Given the description of an element on the screen output the (x, y) to click on. 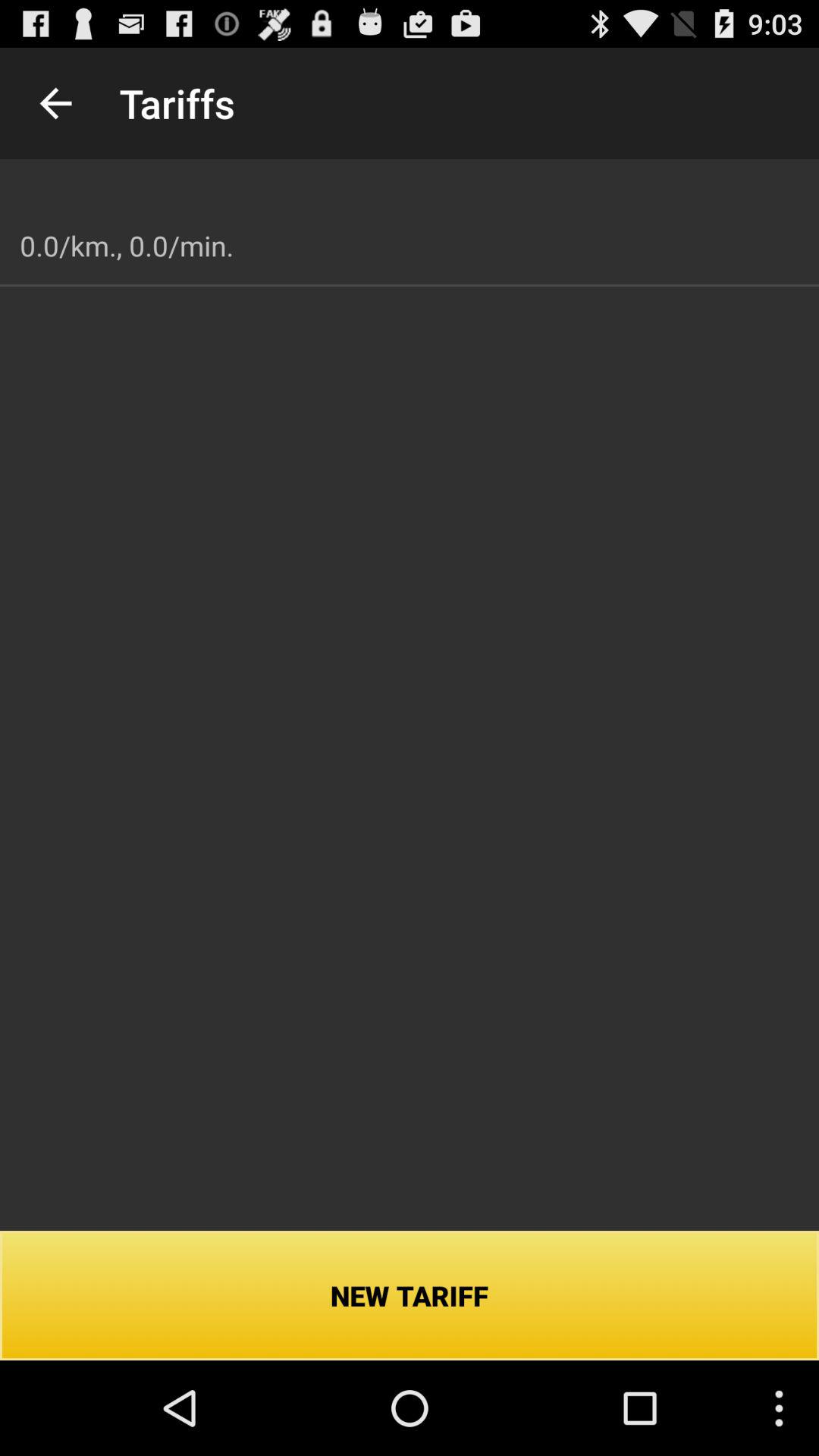
tap the icon next to the tariffs (55, 103)
